Given the description of an element on the screen output the (x, y) to click on. 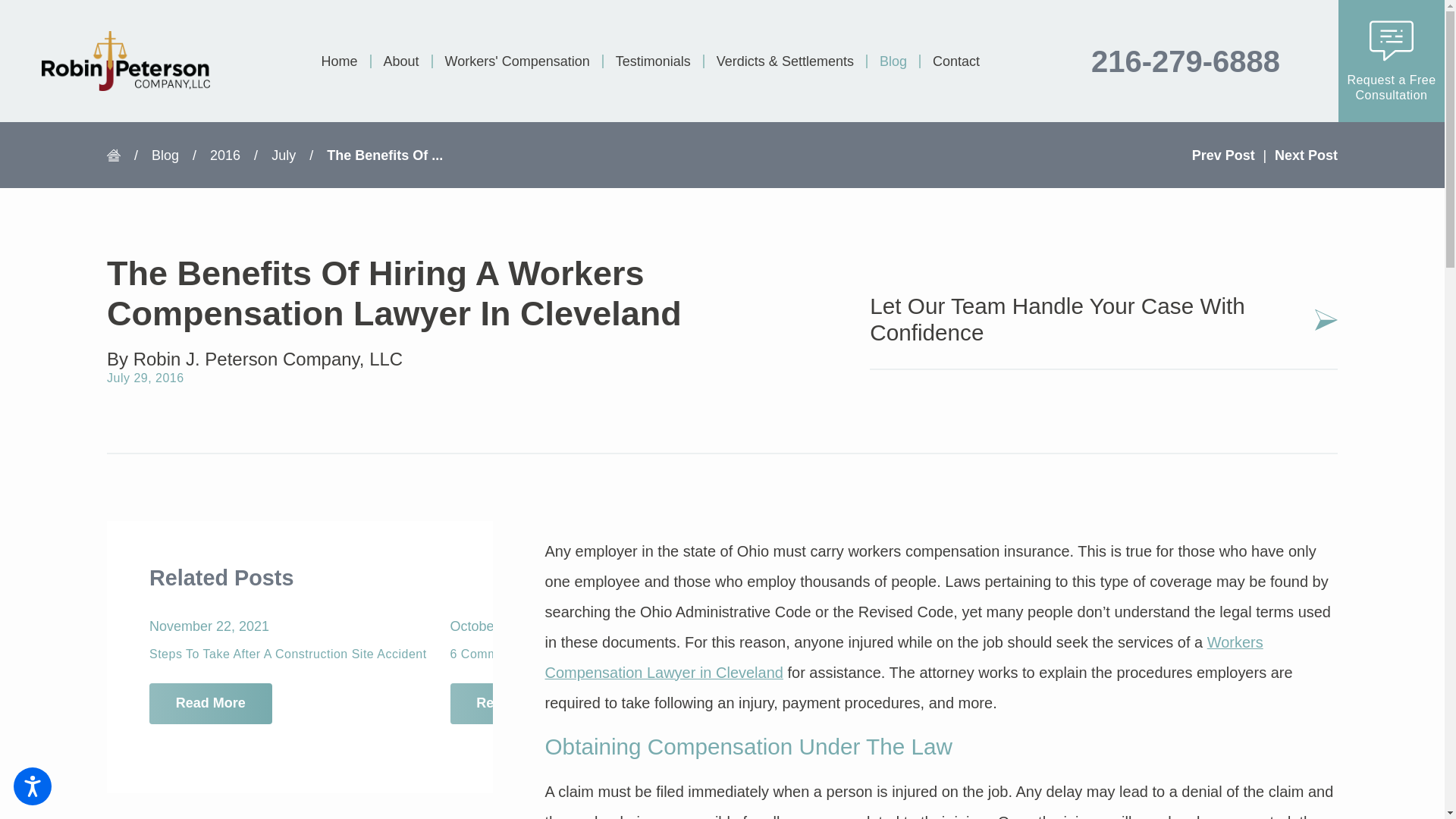
About (399, 60)
Workers' Compensation (516, 60)
Go Home (119, 155)
Open the accessibility options menu (31, 786)
Blog (892, 60)
Robin J. Peterson Company (125, 60)
Testimonials (652, 60)
Home (345, 60)
